Given the description of an element on the screen output the (x, y) to click on. 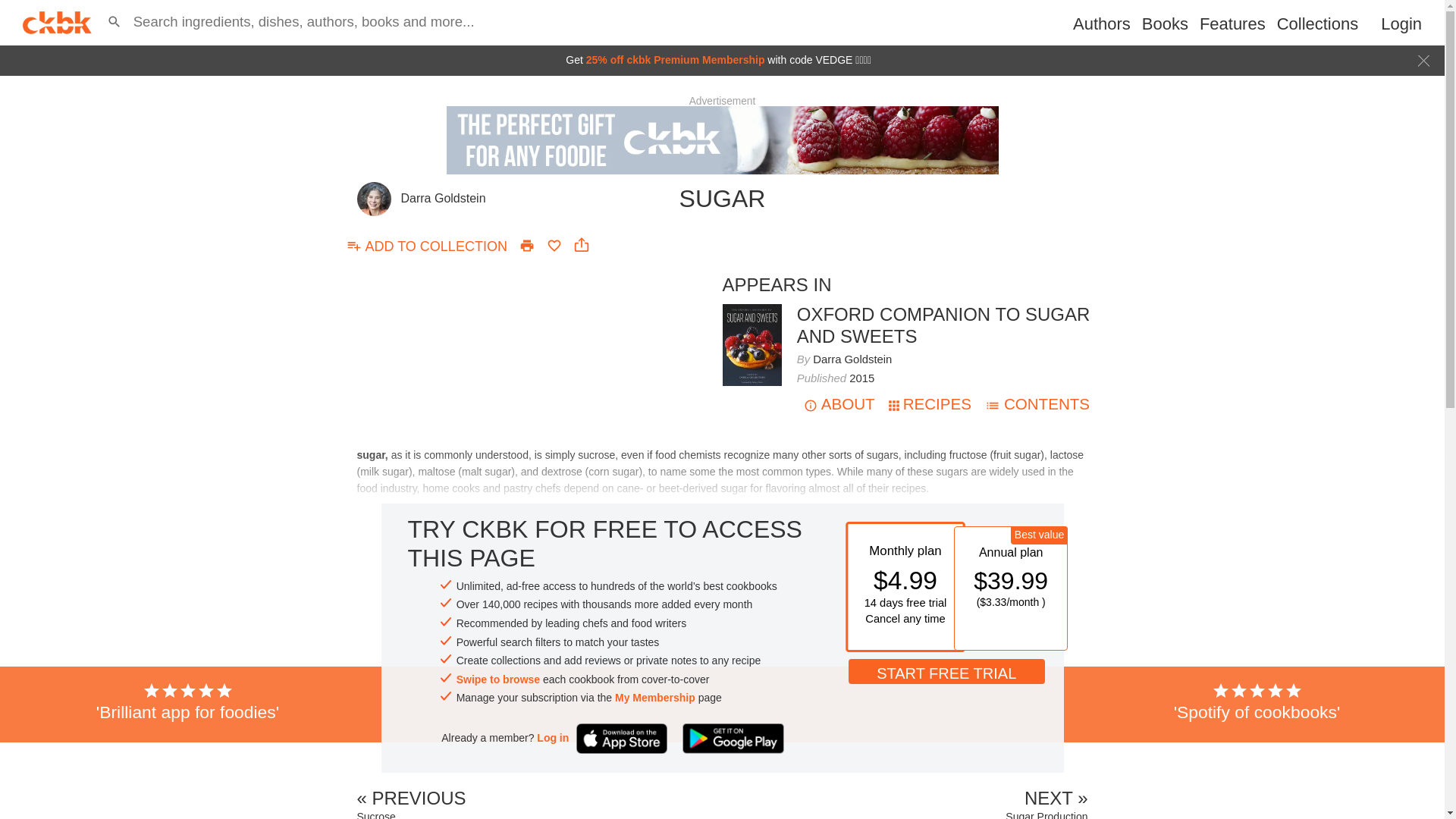
About this book (942, 324)
Print (526, 245)
Login (1401, 23)
Collections (1317, 24)
About this book (751, 310)
Darra Goldstein (442, 197)
'Spotify of cookbooks' (1257, 702)
'Brilliant app for foodies' (188, 702)
My Membership (654, 697)
About this book (839, 403)
CONTENTS (1037, 403)
Authors (1102, 24)
OXFORD COMPANION TO SUGAR AND SWEETS (942, 324)
Swipe to browse (498, 679)
ABOUT (839, 403)
